Given the description of an element on the screen output the (x, y) to click on. 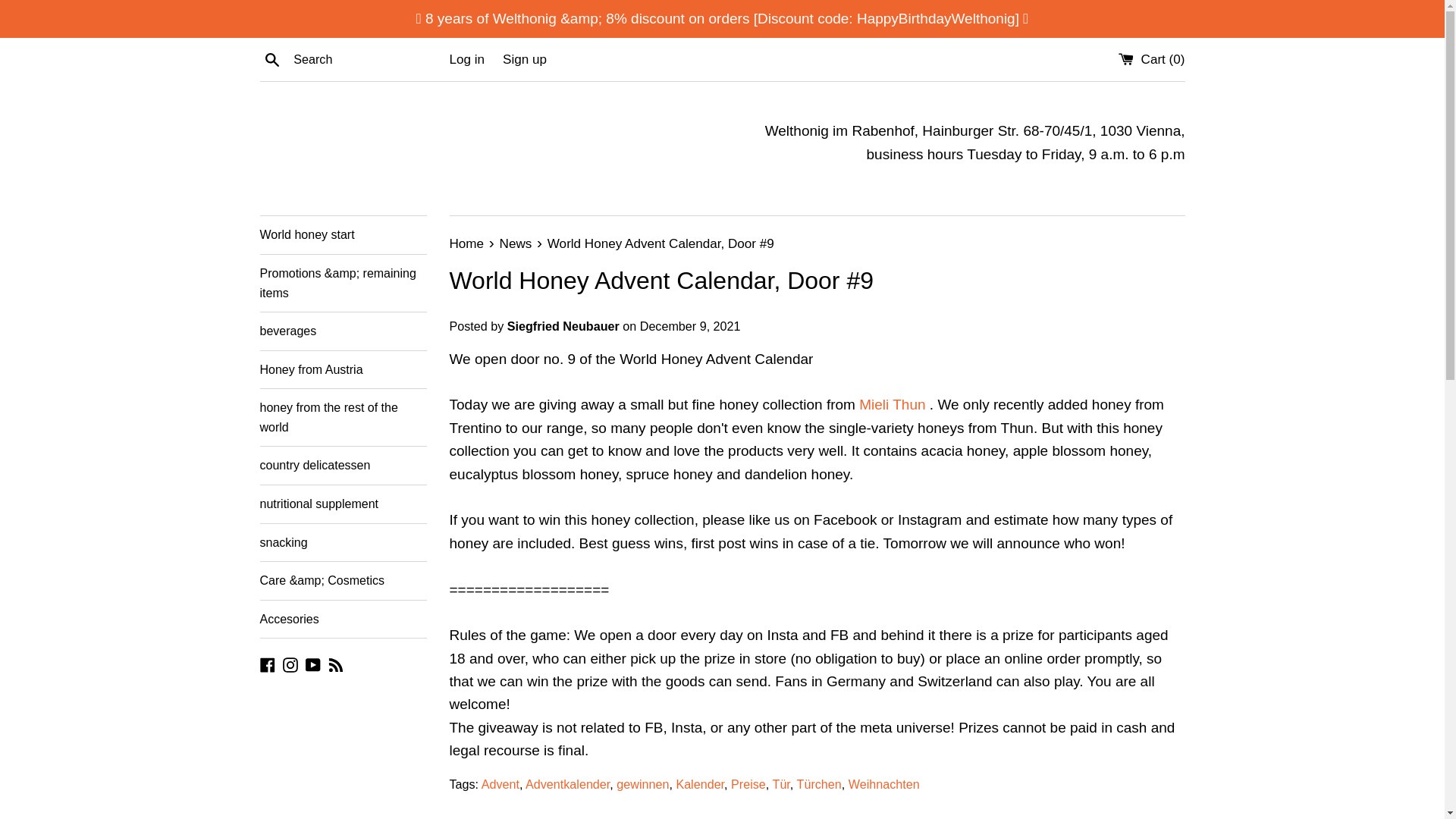
gewinnen (641, 784)
Facebook (267, 663)
Blog (336, 663)
beverages (342, 331)
Weihnachten (884, 784)
News (517, 243)
Search (271, 58)
Back to the frontpage (467, 243)
WELTHONIG lecker Honig aus aller Welt on Facebook (267, 663)
nutritional supplement (342, 504)
Honey from Austria (342, 370)
Sign up (524, 59)
Mieli Thun (891, 404)
honey from the rest of the world (342, 417)
WELTHONIG lecker Honig aus aller Welt on YouTube (312, 663)
